Given the description of an element on the screen output the (x, y) to click on. 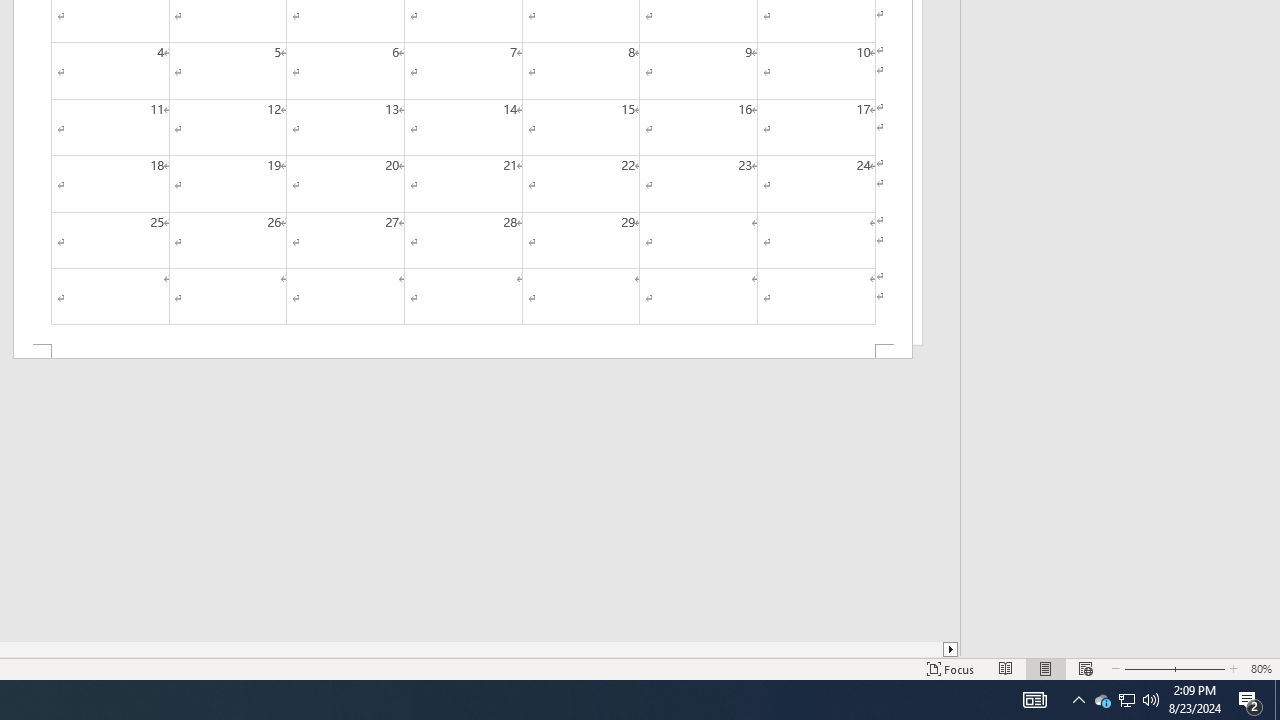
Column right (951, 649)
Footer -Section 2- (462, 351)
